Given the description of an element on the screen output the (x, y) to click on. 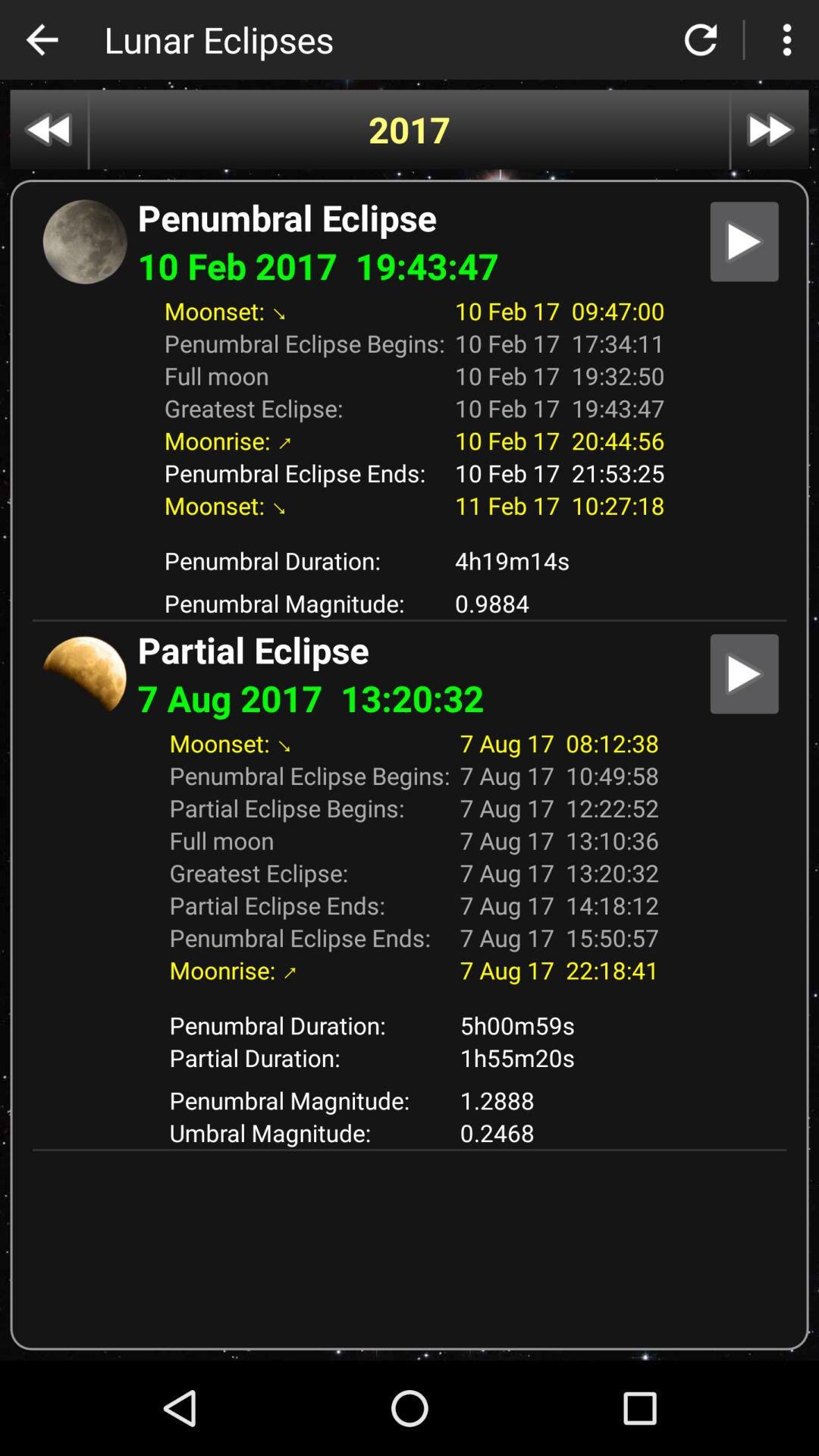
turn on icon next to the partial duration: app (559, 1100)
